Given the description of an element on the screen output the (x, y) to click on. 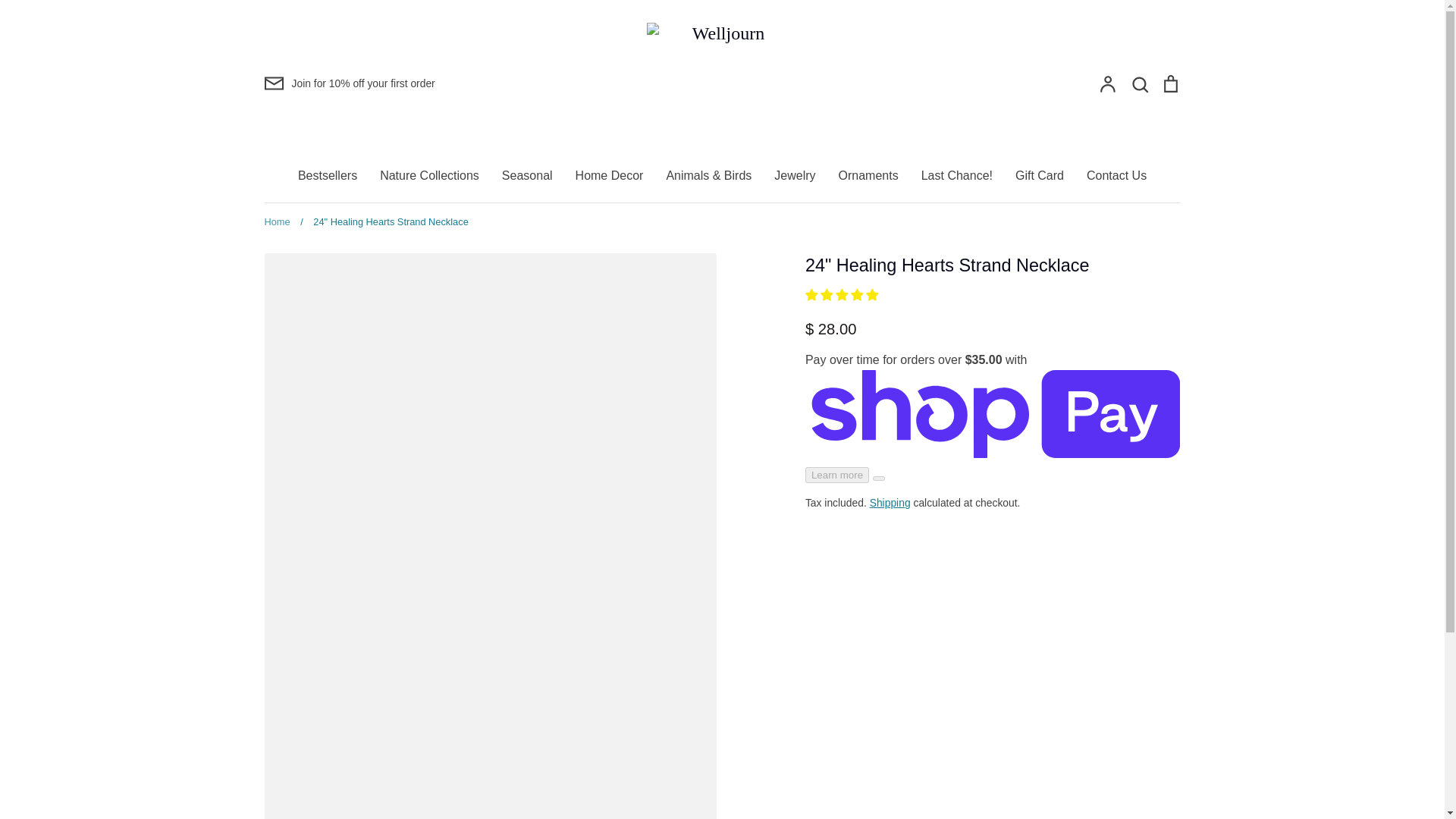
Nature Collections (429, 174)
Seasonal (527, 174)
Bestsellers (327, 174)
Account (1107, 83)
Search (1139, 83)
Cart (1169, 83)
